Given the description of an element on the screen output the (x, y) to click on. 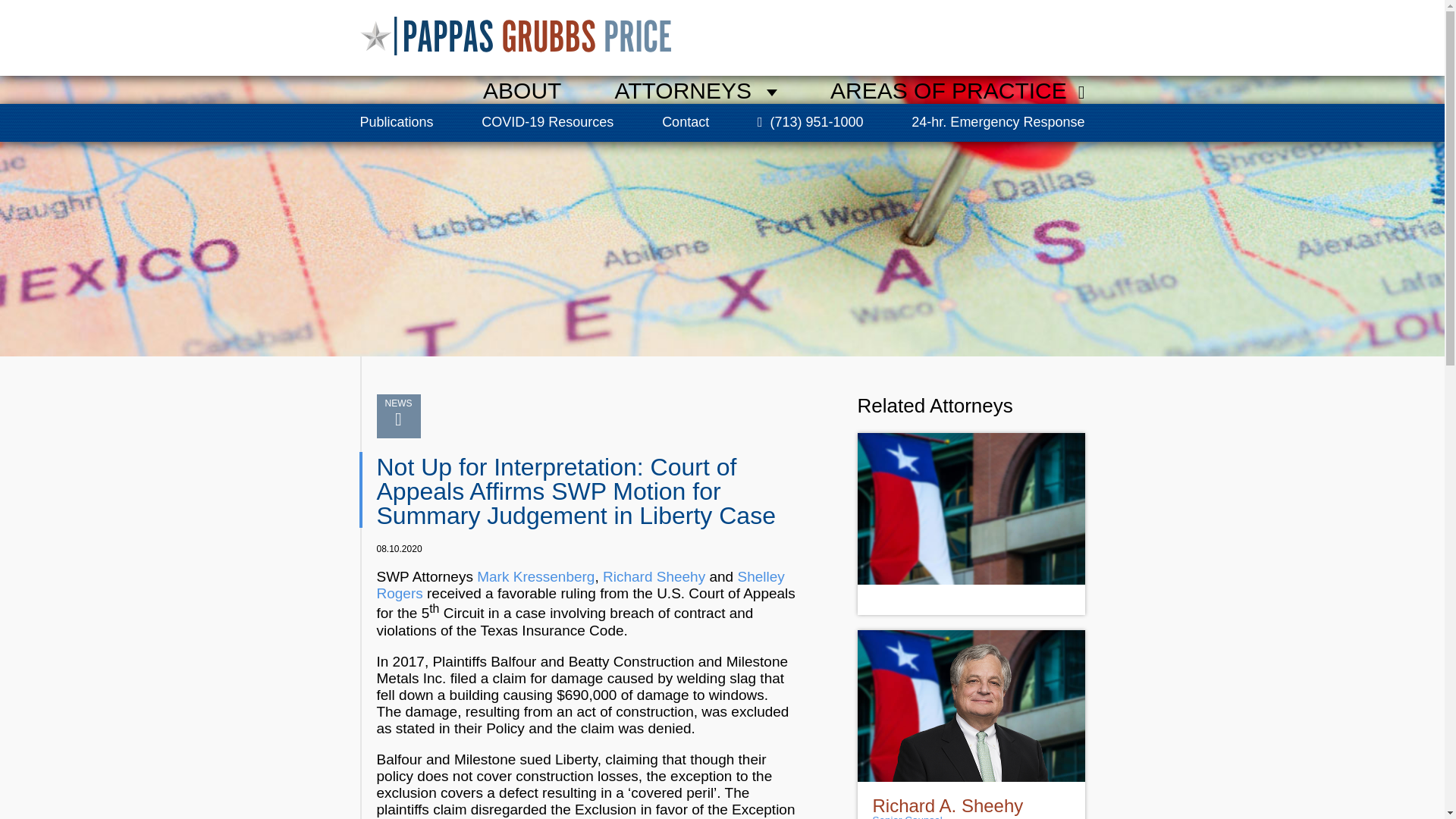
AREAS OF PRACTICE (956, 90)
ATTORNEYS (695, 90)
ABOUT (521, 90)
